Given the description of an element on the screen output the (x, y) to click on. 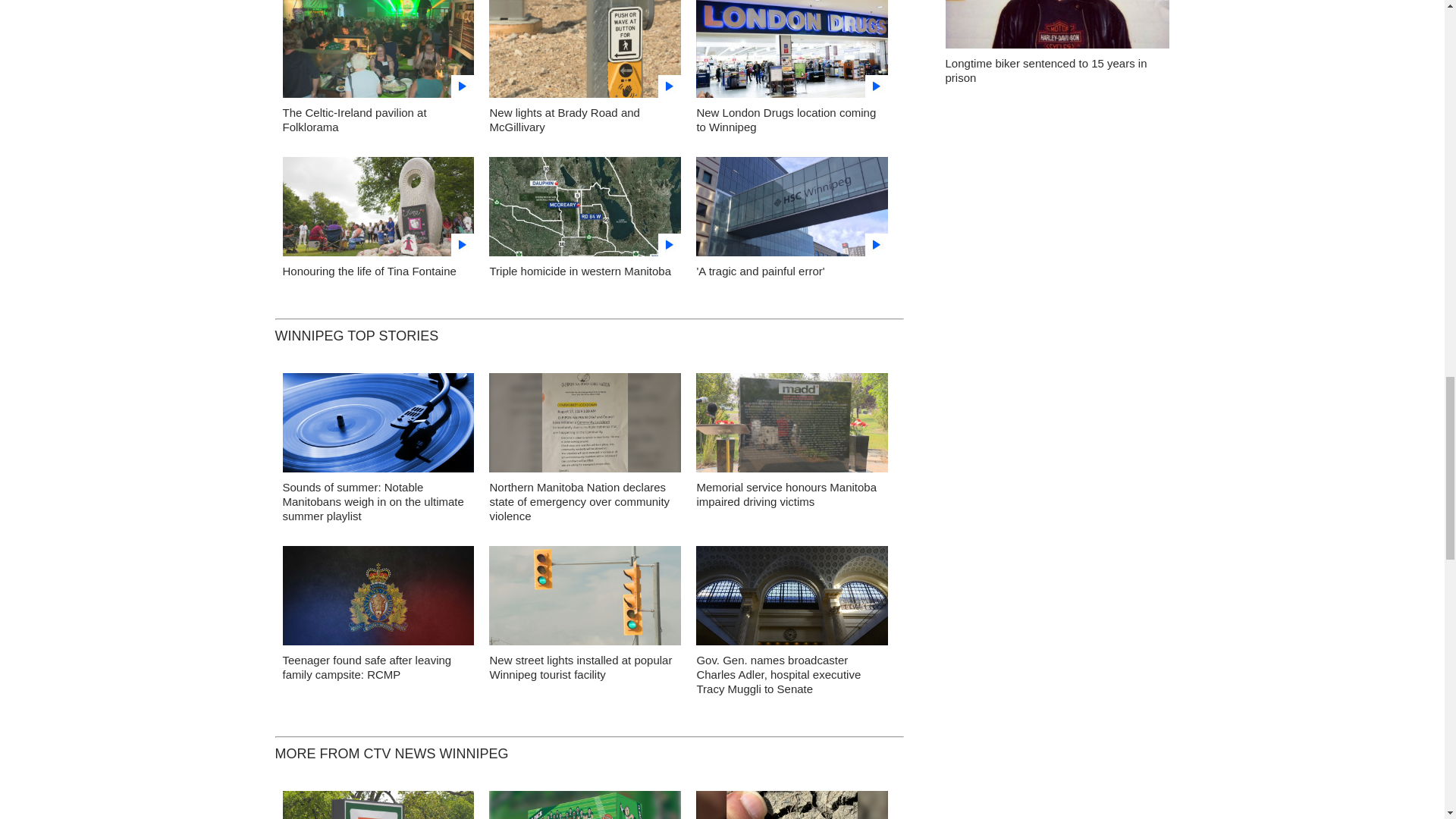
Tina Fontaine memorial (378, 210)
London Drugs (791, 53)
celtic ireland pavilion (378, 53)
Memorial service honours Manitoba impaired driving victims (785, 493)
false (378, 48)
New London Drugs location coming to Winnipeg (785, 119)
New lights at Brady Road and McGillivary (585, 53)
false (585, 48)
